Given the description of an element on the screen output the (x, y) to click on. 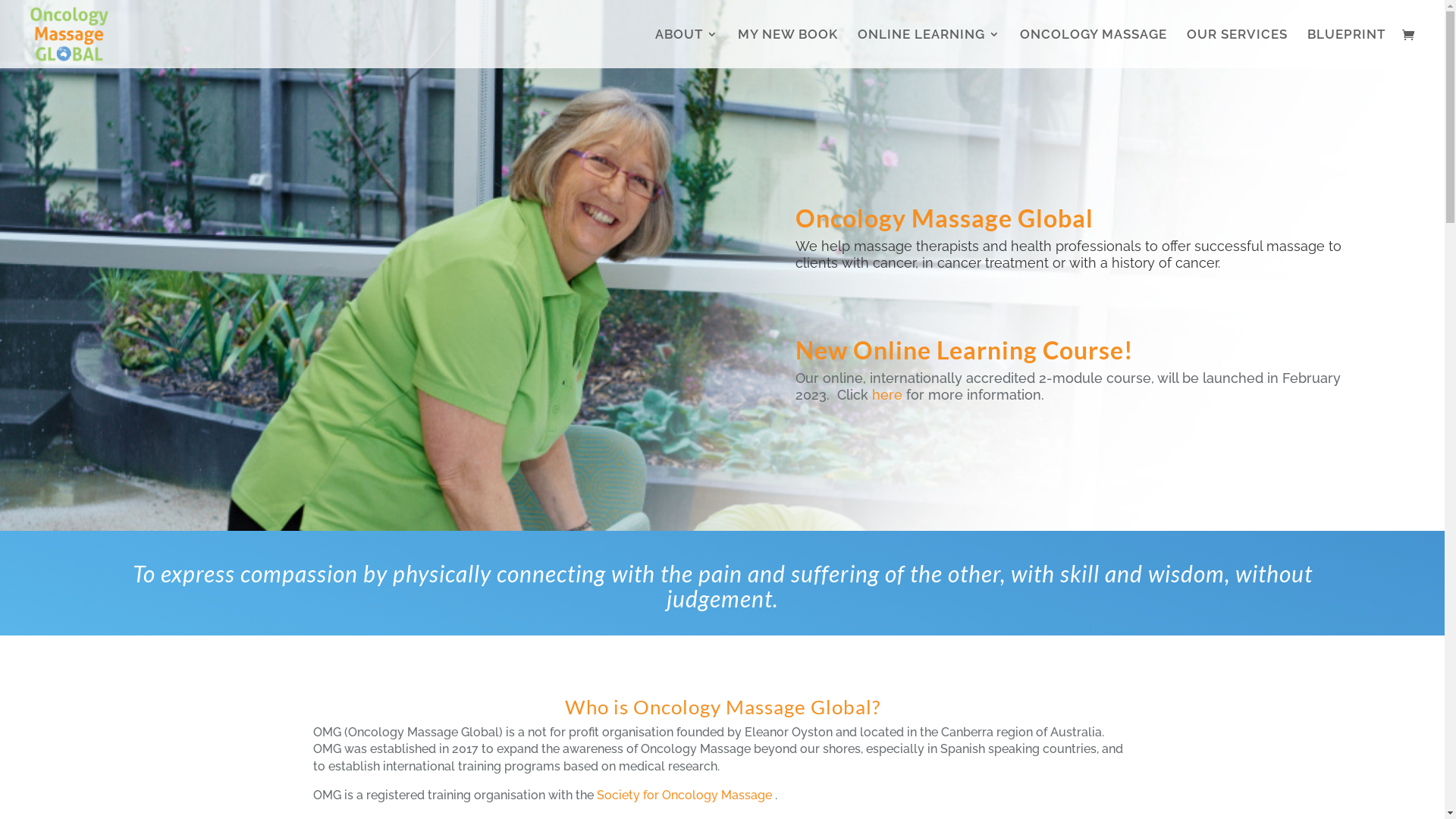
Society for Oncology Massage Element type: text (683, 794)
OUR SERVICES Element type: text (1236, 48)
ABOUT Element type: text (686, 48)
BLUEPRINT Element type: text (1346, 48)
ONCOLOGY MASSAGE Element type: text (1093, 48)
here Element type: text (887, 394)
ONLINE LEARNING Element type: text (928, 48)
MY NEW BOOK Element type: text (787, 48)
